Given the description of an element on the screen output the (x, y) to click on. 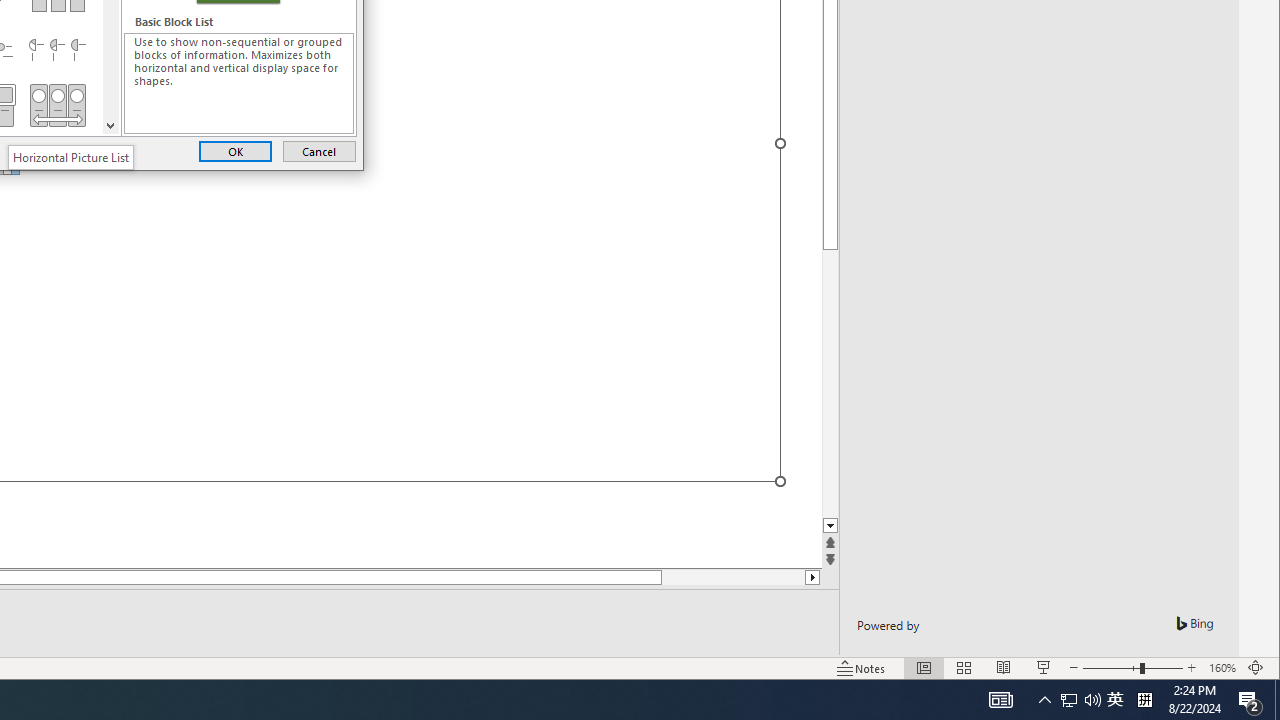
Horizontal Picture List (70, 156)
Continuous Picture List (57, 105)
Zoom 160% (1222, 668)
Class: NetUITextbox (239, 83)
Cancel (319, 150)
